Given the description of an element on the screen output the (x, y) to click on. 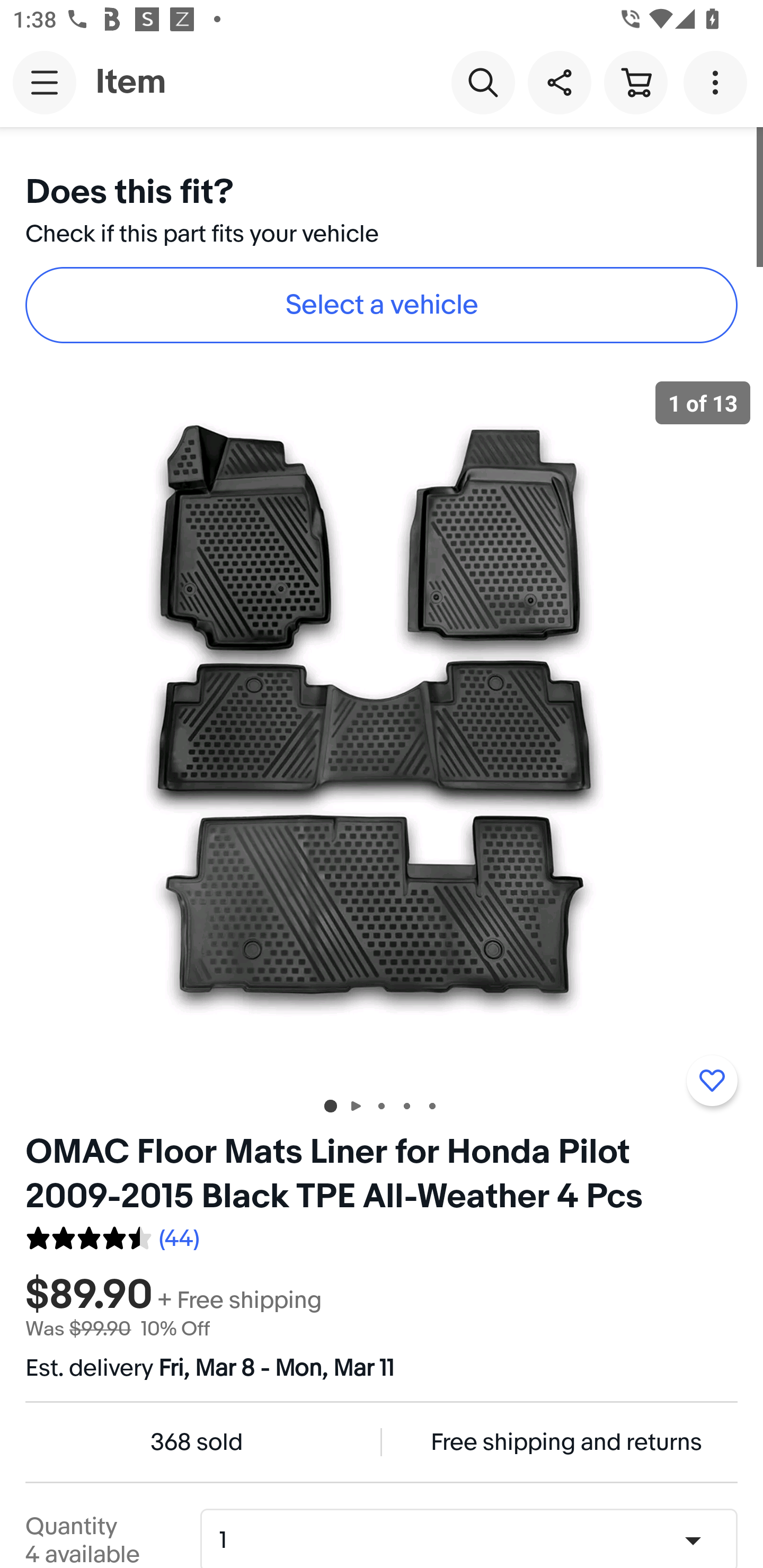
Main navigation, open (44, 82)
Search (482, 81)
Share this item (559, 81)
Cart button shopping cart (635, 81)
More options (718, 81)
Select a vehicle (381, 304)
Item image 1 of 13 (381, 724)
Add to watchlist (711, 1080)
Quantity,1,4 available 1 (474, 1540)
